Given the description of an element on the screen output the (x, y) to click on. 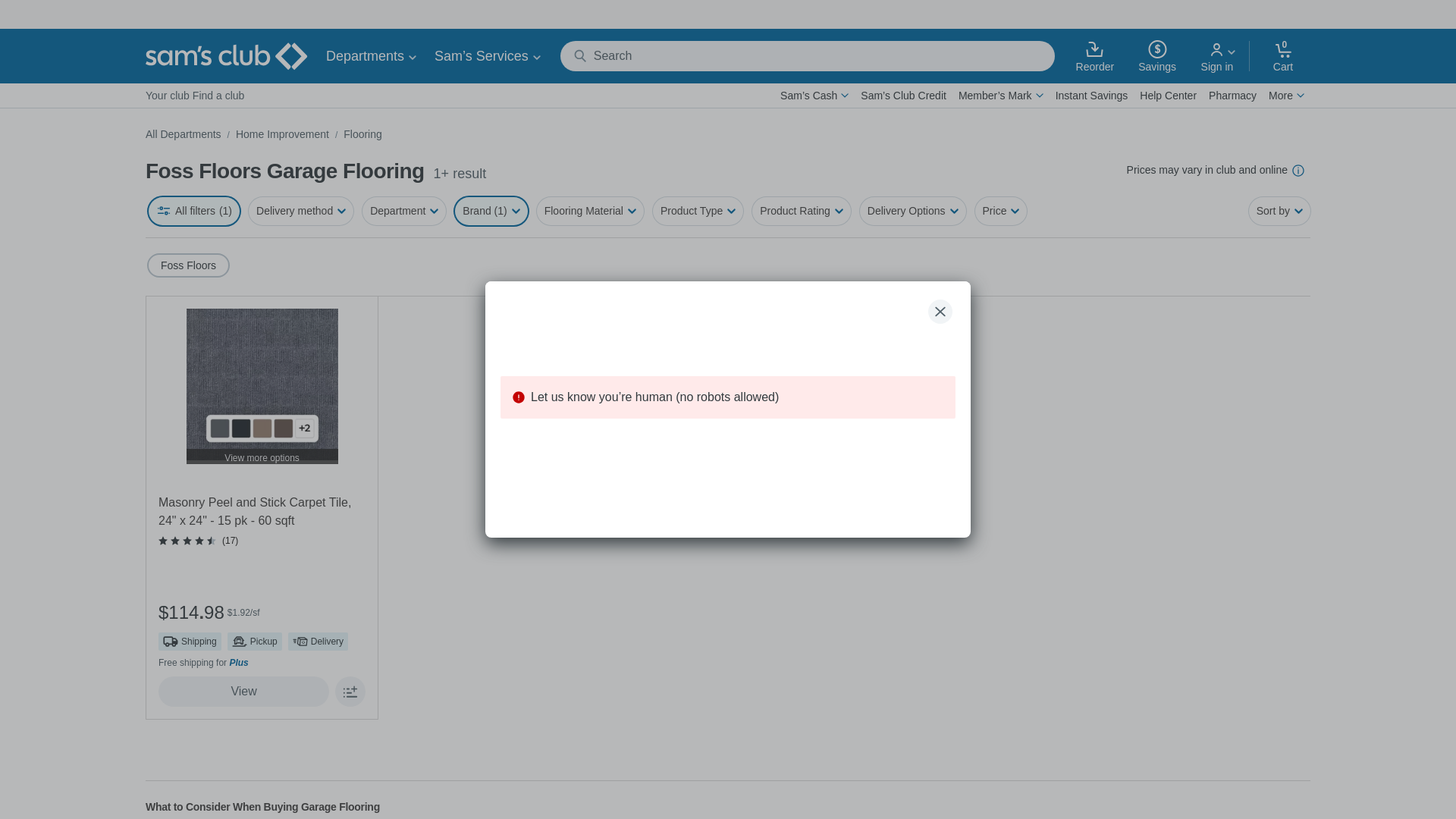
Foss Floors (727, 266)
Sam's Club homepage logo (226, 56)
Foss Floors (191, 265)
